Given the description of an element on the screen output the (x, y) to click on. 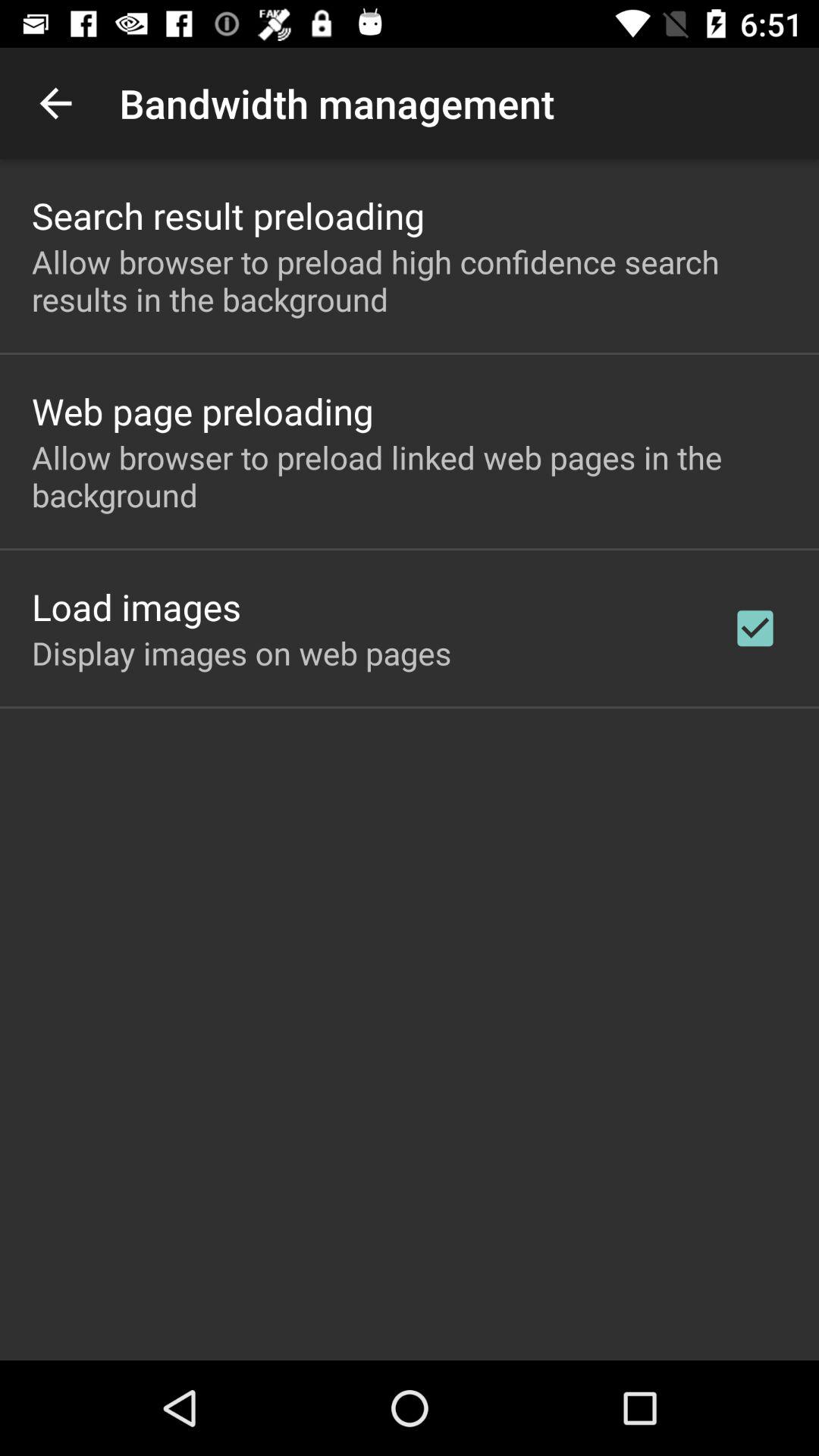
open the search result preloading icon (227, 215)
